Given the description of an element on the screen output the (x, y) to click on. 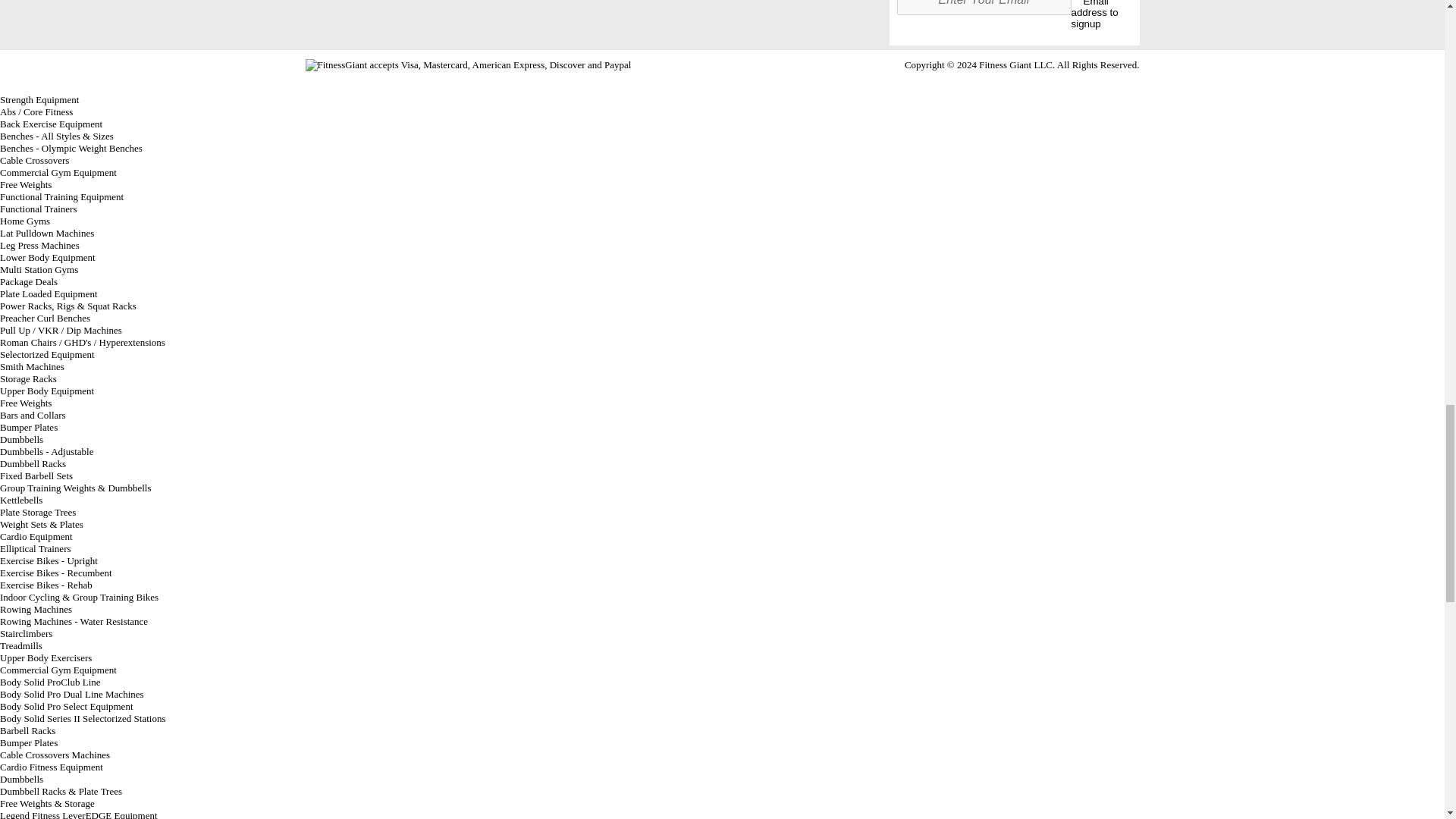
Cardio Equipment (36, 536)
Commercial Gym Equipment (58, 669)
Free Weights (25, 402)
Strength Equipment (39, 99)
